Given the description of an element on the screen output the (x, y) to click on. 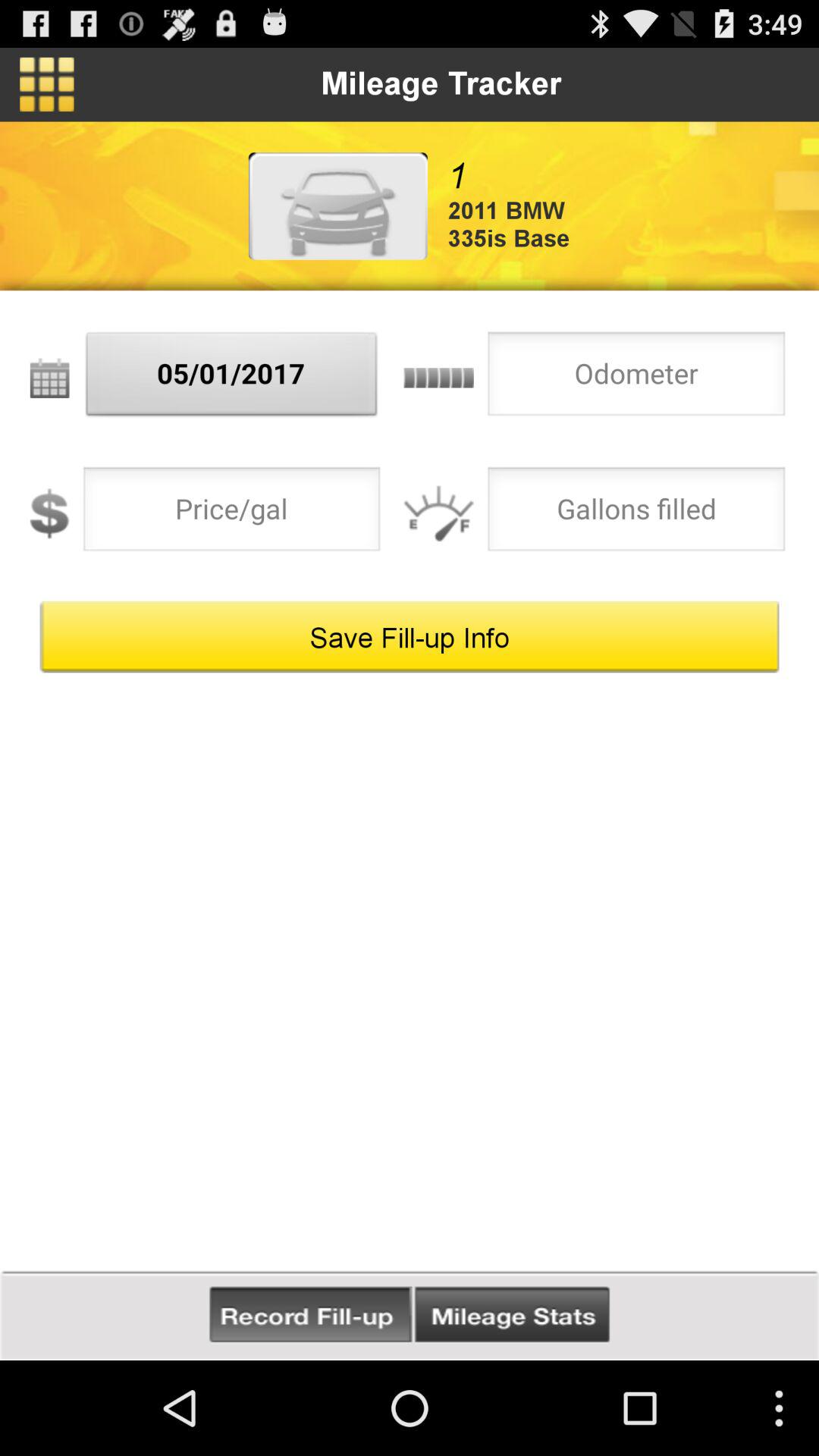
swipe until the 05/01/2017 (231, 377)
